Given the description of an element on the screen output the (x, y) to click on. 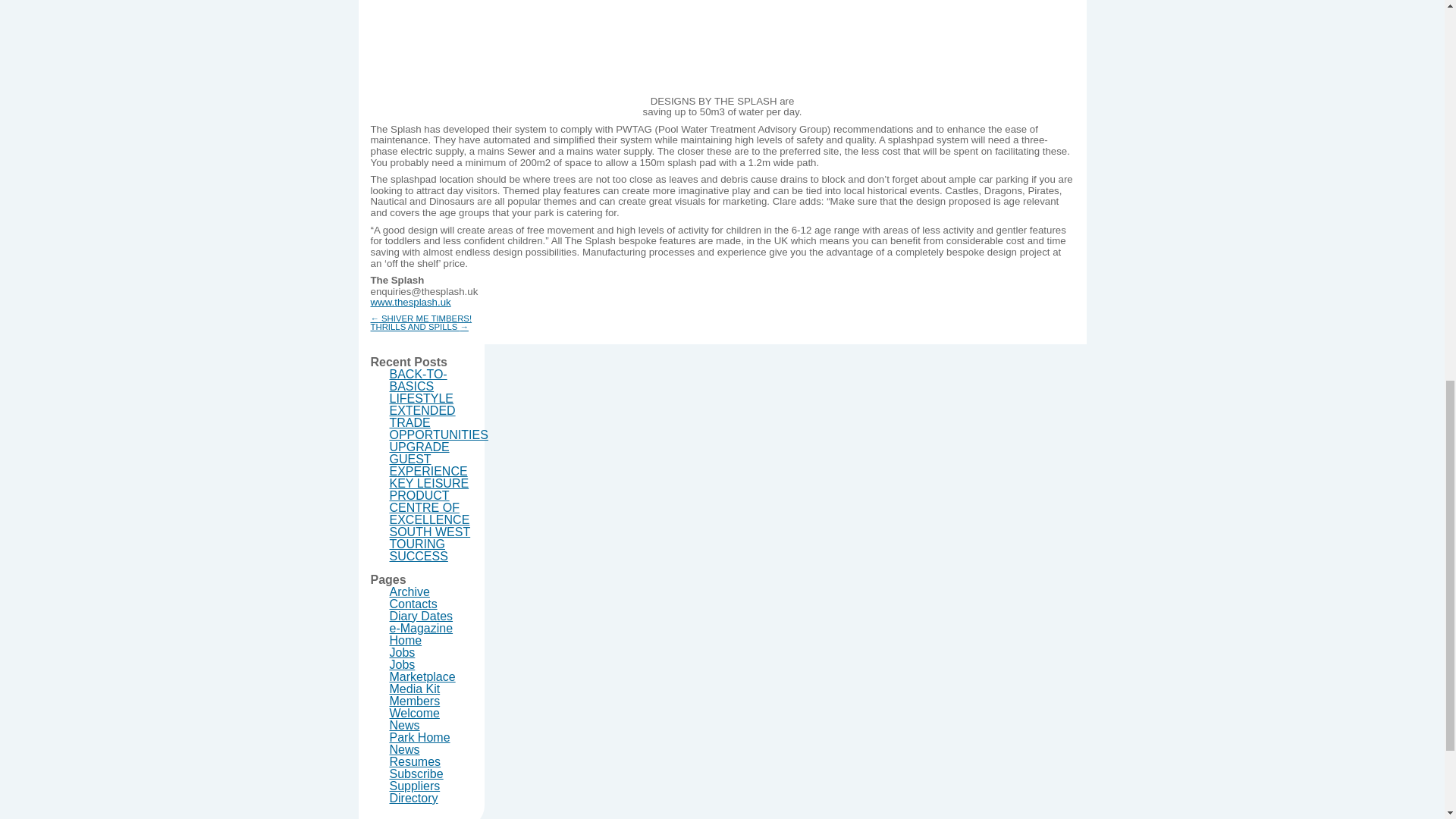
Members Welcome (415, 706)
News (405, 725)
Marketplace (422, 676)
Media Kit (415, 688)
Resumes (415, 761)
KEY LEISURE PRODUCT CENTRE OF EXCELLENCE (430, 501)
BACK-TO-BASICS LIFESTYLE (421, 385)
Park Home News (419, 743)
Home (406, 640)
UPGRADE GUEST EXPERIENCE (428, 458)
Archive (409, 591)
Subscribe (417, 773)
SOUTH WEST TOURING SUCCESS (430, 543)
Jobs (402, 664)
Contacts (414, 603)
